Given the description of an element on the screen output the (x, y) to click on. 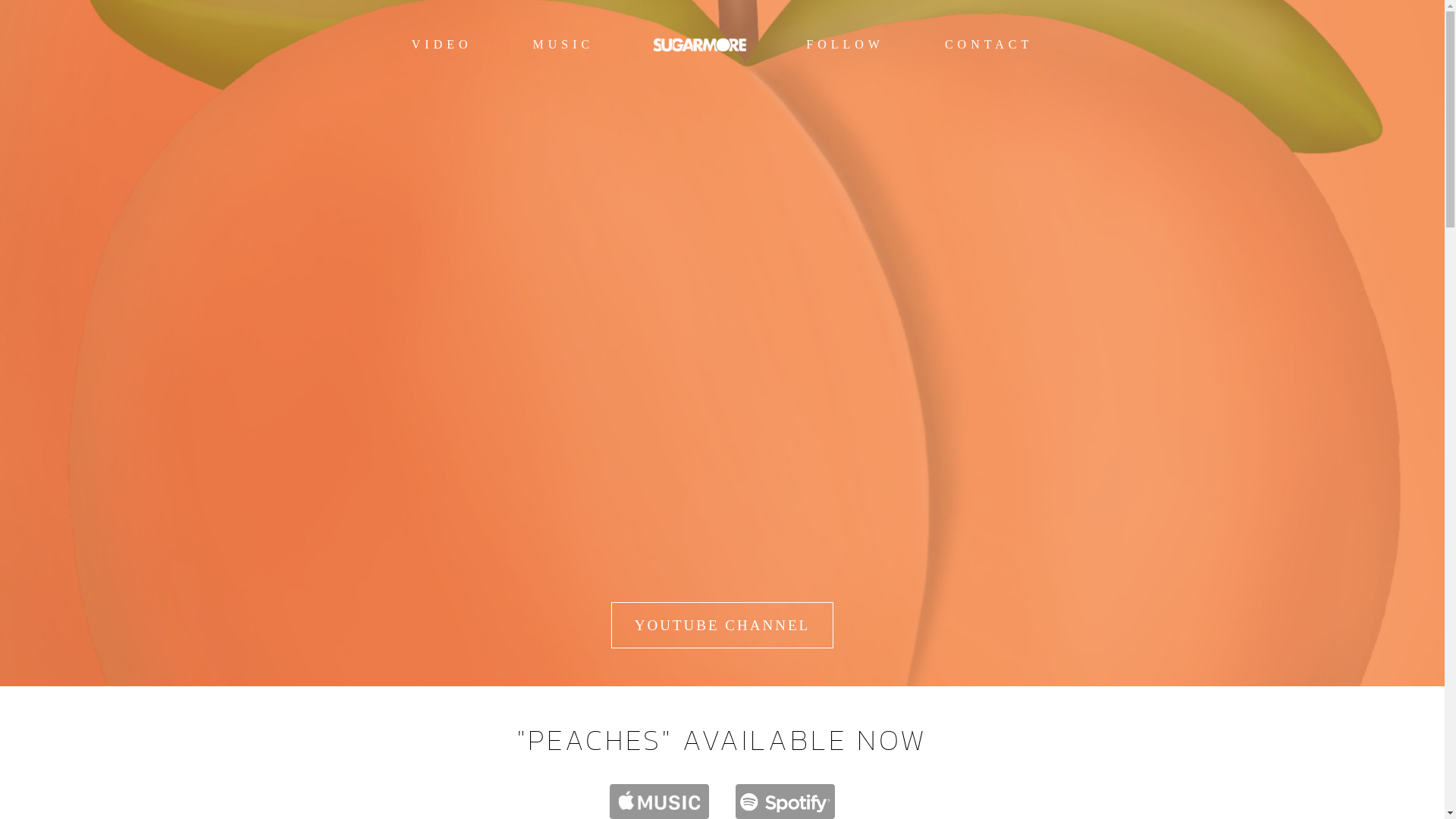
YOUTUBE CHANNEL Element type: text (722, 625)
VIDEO Element type: text (441, 44)
CONTACT Element type: text (988, 44)
MUSIC Element type: text (563, 44)
FOLLOW Element type: text (844, 44)
